Given the description of an element on the screen output the (x, y) to click on. 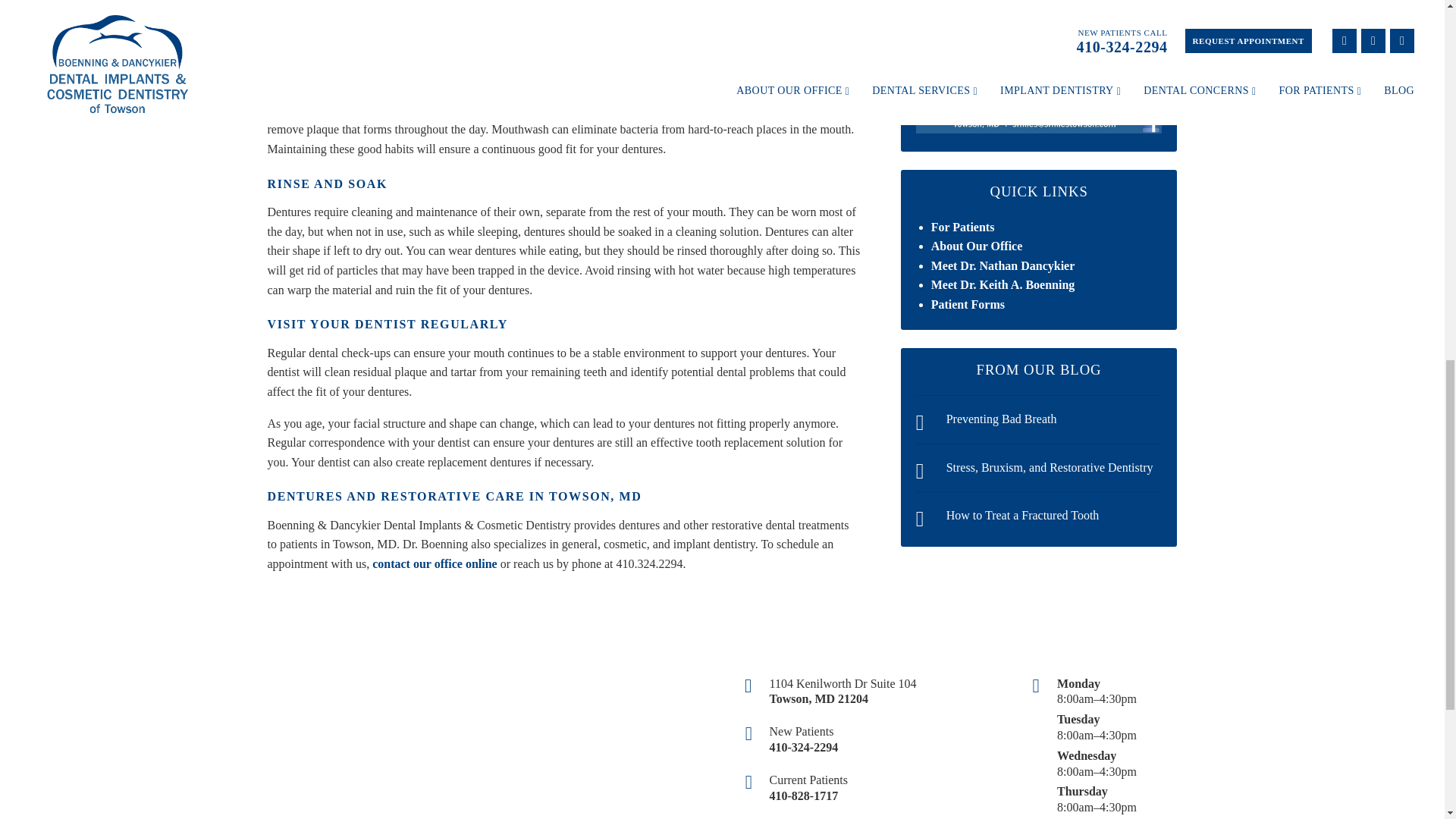
Baltimore's Top Dentist 2022 (1038, 66)
